Given the description of an element on the screen output the (x, y) to click on. 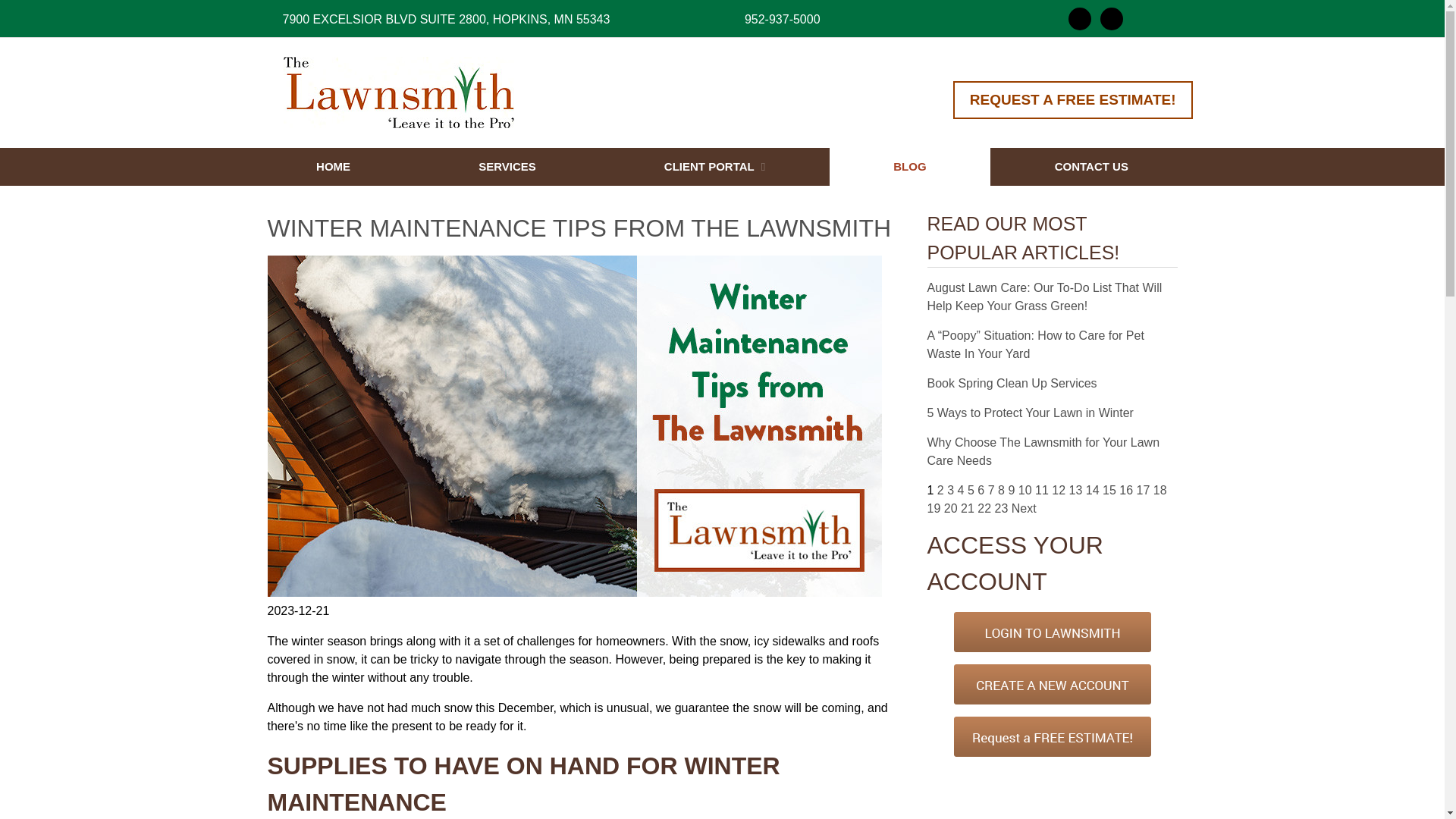
Book Spring Clean Up Services (1011, 382)
BLOG (909, 166)
15 (1109, 490)
CLIENT PORTAL (713, 166)
16 (1125, 490)
10 (1024, 490)
12 (1058, 490)
11 (1041, 490)
13 (1074, 490)
Why Choose The Lawnsmith for Your Lawn Care Needs (1042, 450)
17 (1142, 490)
14 (1092, 490)
CONTACT US (1091, 166)
5 Ways to Protect Your Lawn in Winter (1029, 412)
